Given the description of an element on the screen output the (x, y) to click on. 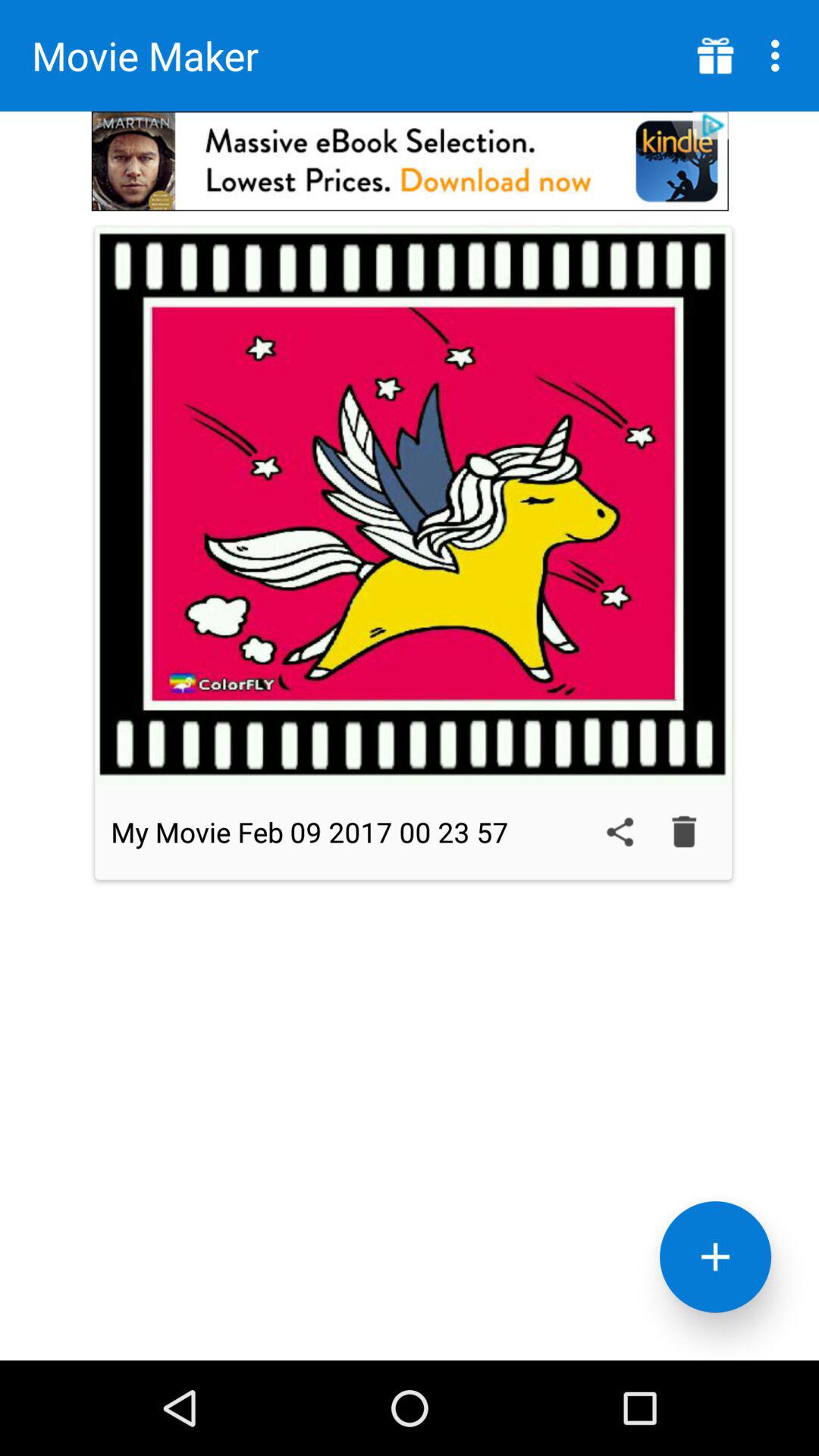
menu button (715, 55)
